Given the description of an element on the screen output the (x, y) to click on. 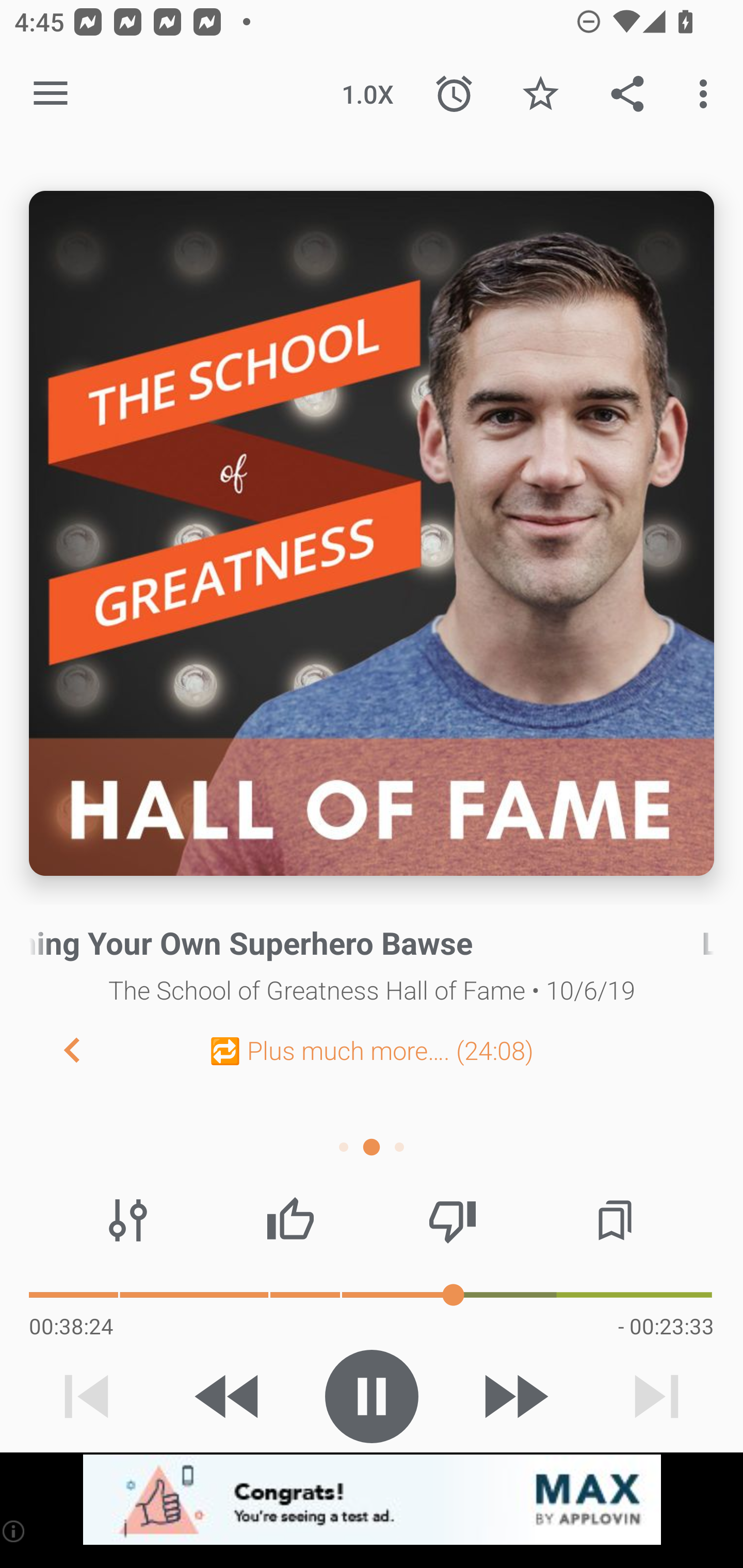
Open navigation sidebar (50, 93)
1.0X (366, 93)
Sleep Timer (453, 93)
Favorite (540, 93)
Share (626, 93)
More options (706, 93)
Episode description (371, 533)
Previous Chapter (56, 1049)
🔁 Plus much more…. (24:08) (371, 1050)
Audio effects (127, 1220)
Thumbs up (290, 1220)
Thumbs down (452, 1220)
Chapters / Bookmarks (614, 1220)
- 00:23:33 (666, 1325)
Previous track (86, 1395)
Skip 15s backward (228, 1395)
Play / Pause (371, 1395)
Skip 30s forward (513, 1395)
Next track (656, 1395)
app-monetization (371, 1500)
(i) (14, 1531)
